Given the description of an element on the screen output the (x, y) to click on. 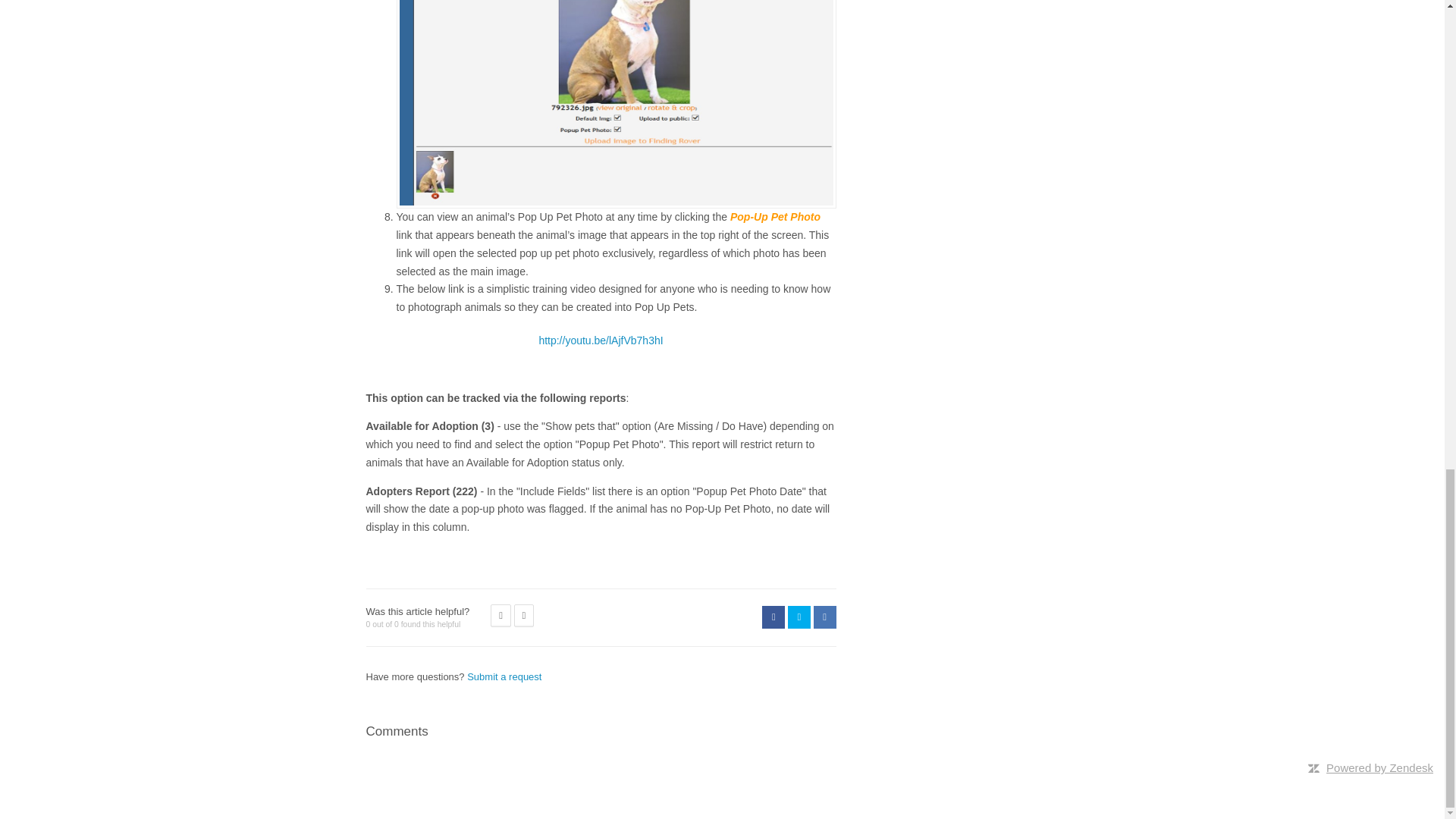
Powered by Zendesk (1379, 767)
No (523, 615)
Yes (500, 615)
Submit a request (504, 676)
Facebook (772, 617)
LinkedIn (823, 617)
Twitter (798, 617)
